Given the description of an element on the screen output the (x, y) to click on. 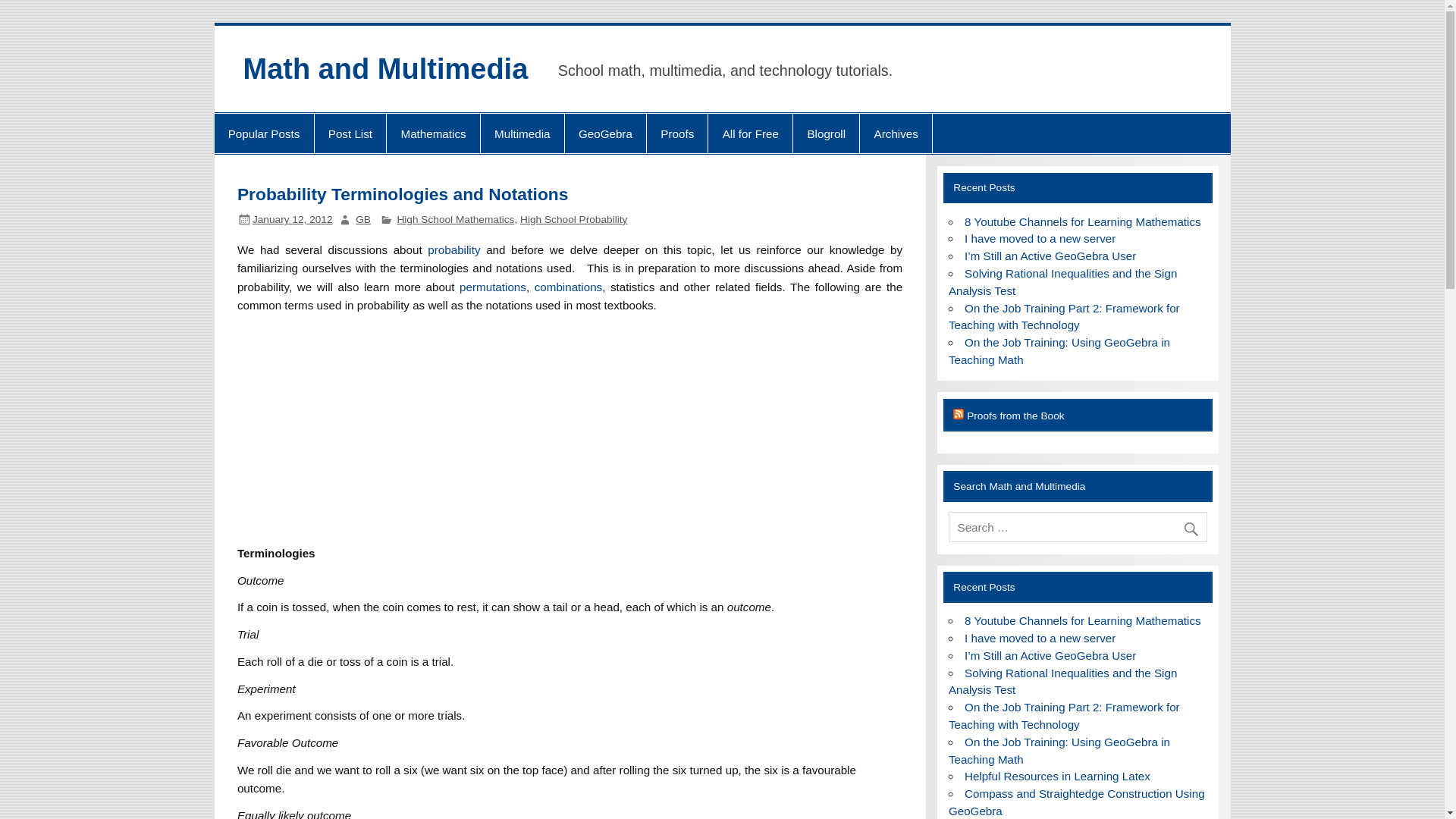
On the Job Training: Using GeoGebra in Teaching Math (1059, 350)
A Gentle Introduction to Probability (454, 249)
8 Youtube Channels for Learning Mathematics (1082, 620)
I have moved to a new server (1039, 237)
Proofs from the Book (1015, 415)
Multimedia (522, 133)
View all posts by GB (363, 219)
Introduction to Combinations (568, 286)
8 Youtube Channels for Learning Mathematics (1082, 221)
probability (454, 249)
Mathematics (433, 133)
High School Mathematics (454, 219)
Solving Rational Inequalities and the Sign Analysis Test (1063, 281)
Archives (895, 133)
